Given the description of an element on the screen output the (x, y) to click on. 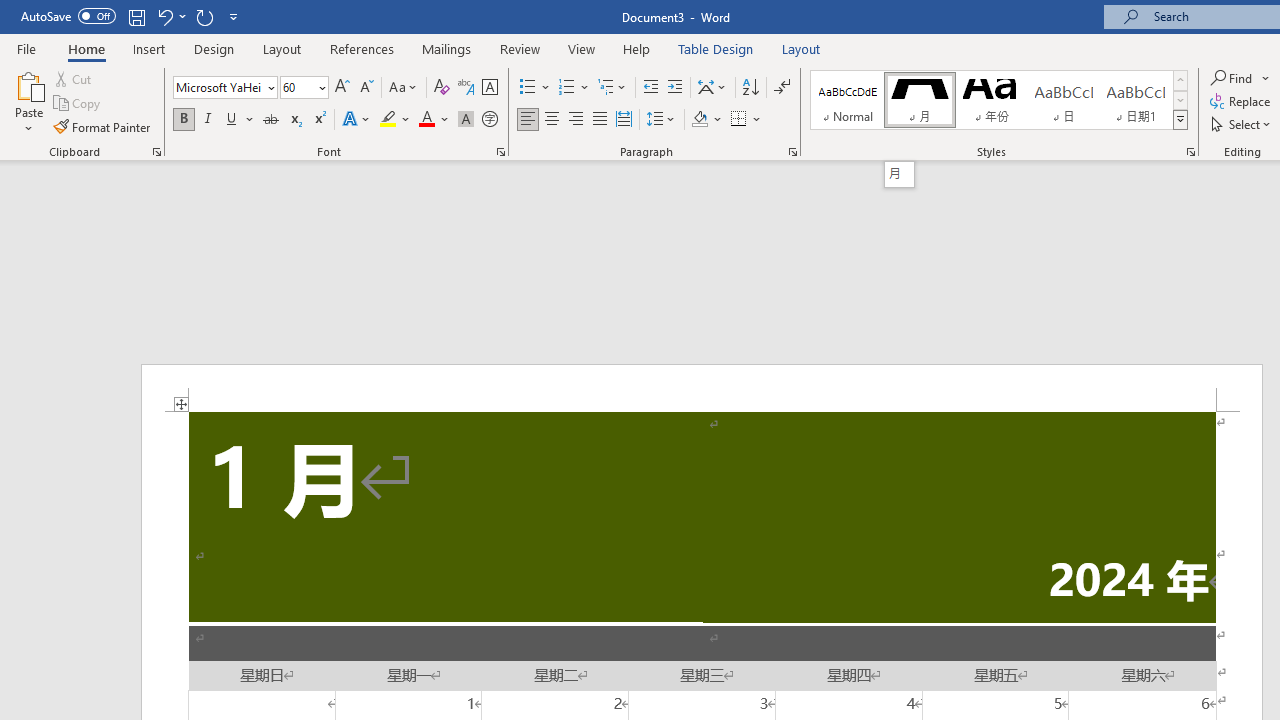
Font Color RGB(255, 0, 0) (426, 119)
